Given the description of an element on the screen output the (x, y) to click on. 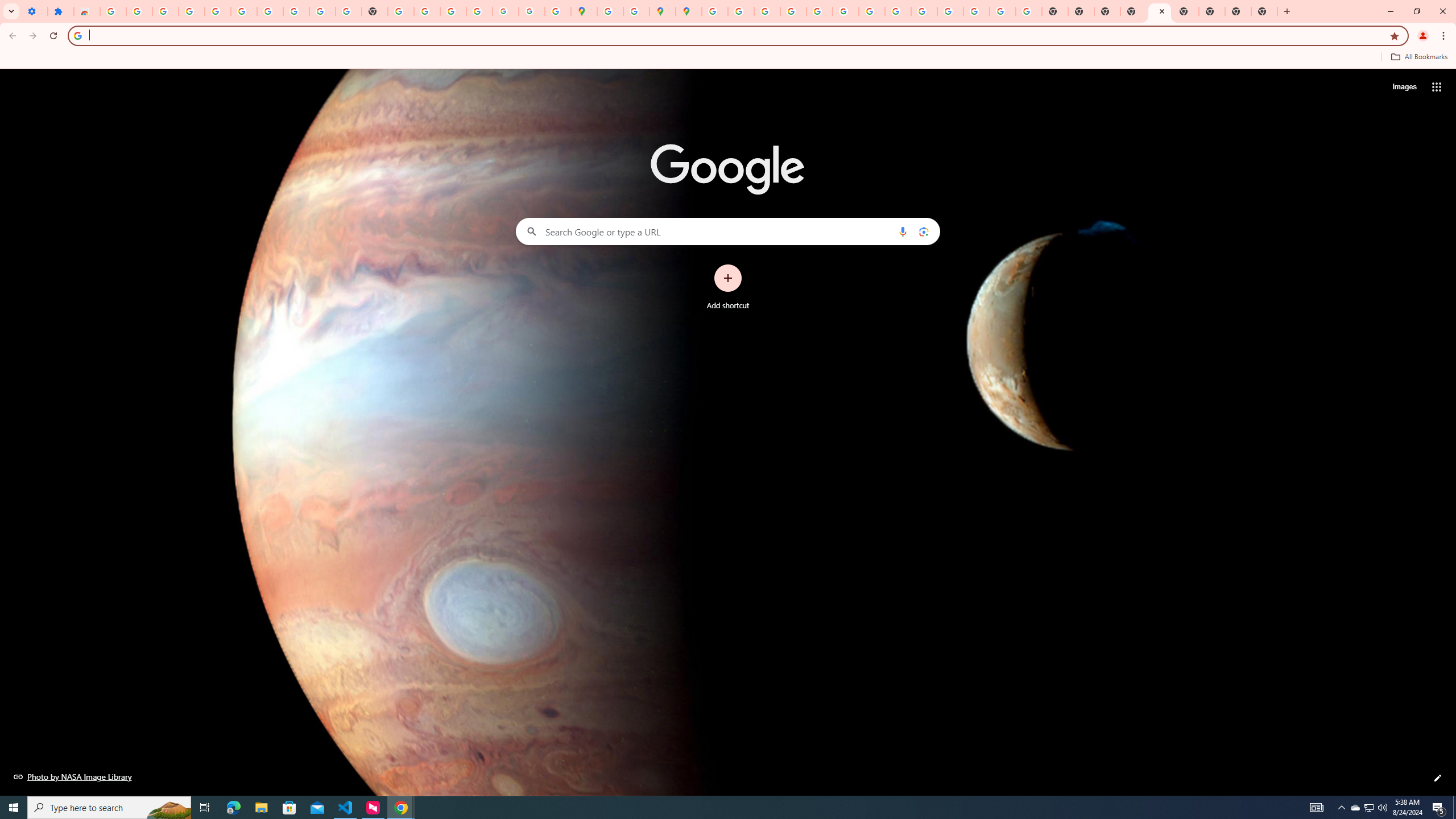
Search by voice (902, 230)
Learn how to find your photos - Google Photos Help (191, 11)
Close (1162, 11)
Minimize (1390, 11)
Browse Chrome as a guest - Computer - Google Chrome Help (897, 11)
System (6, 6)
New Tab (1133, 11)
